Given the description of an element on the screen output the (x, y) to click on. 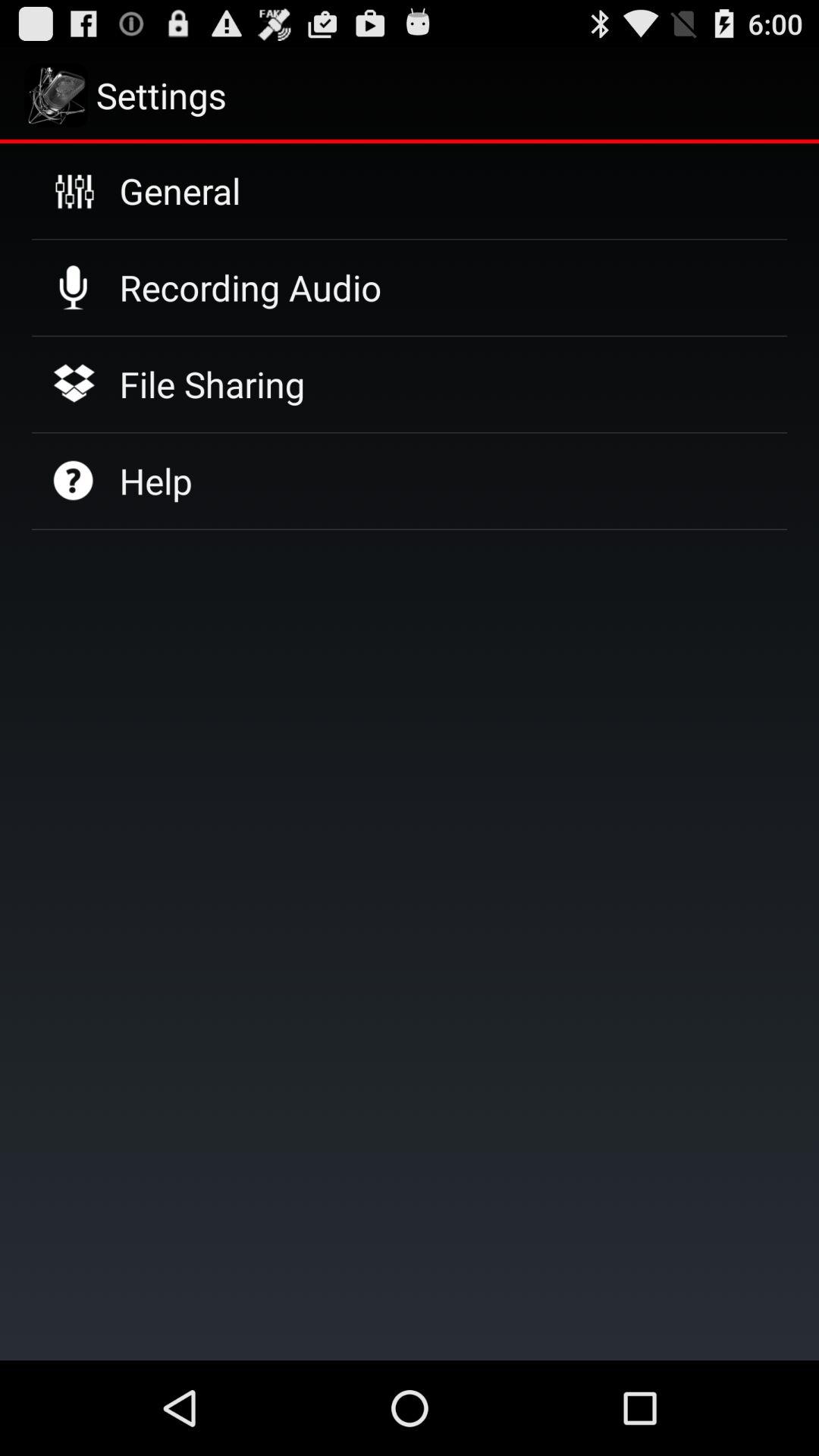
click the general (179, 190)
